Given the description of an element on the screen output the (x, y) to click on. 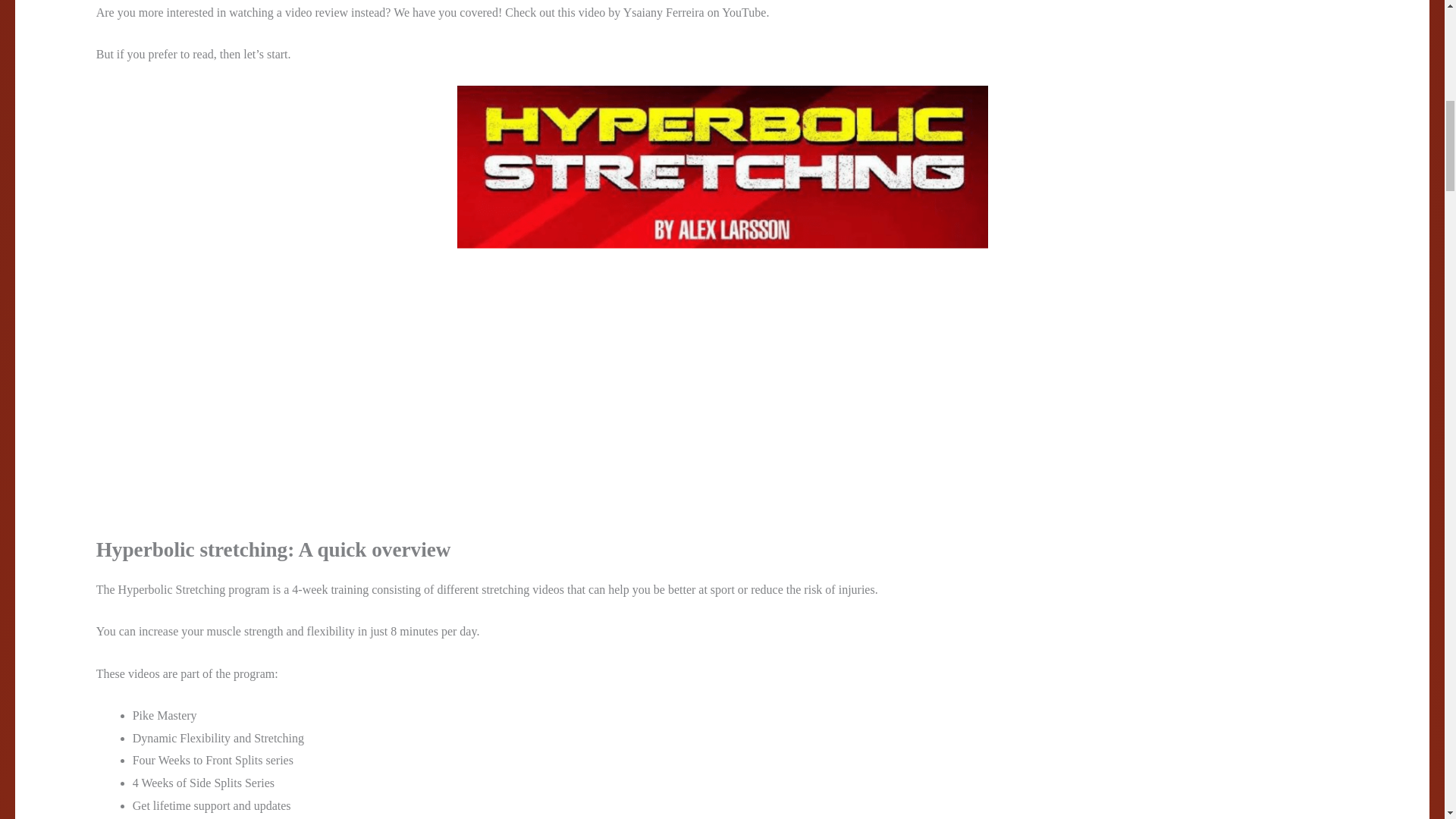
YouTube video player (308, 390)
